Given the description of an element on the screen output the (x, y) to click on. 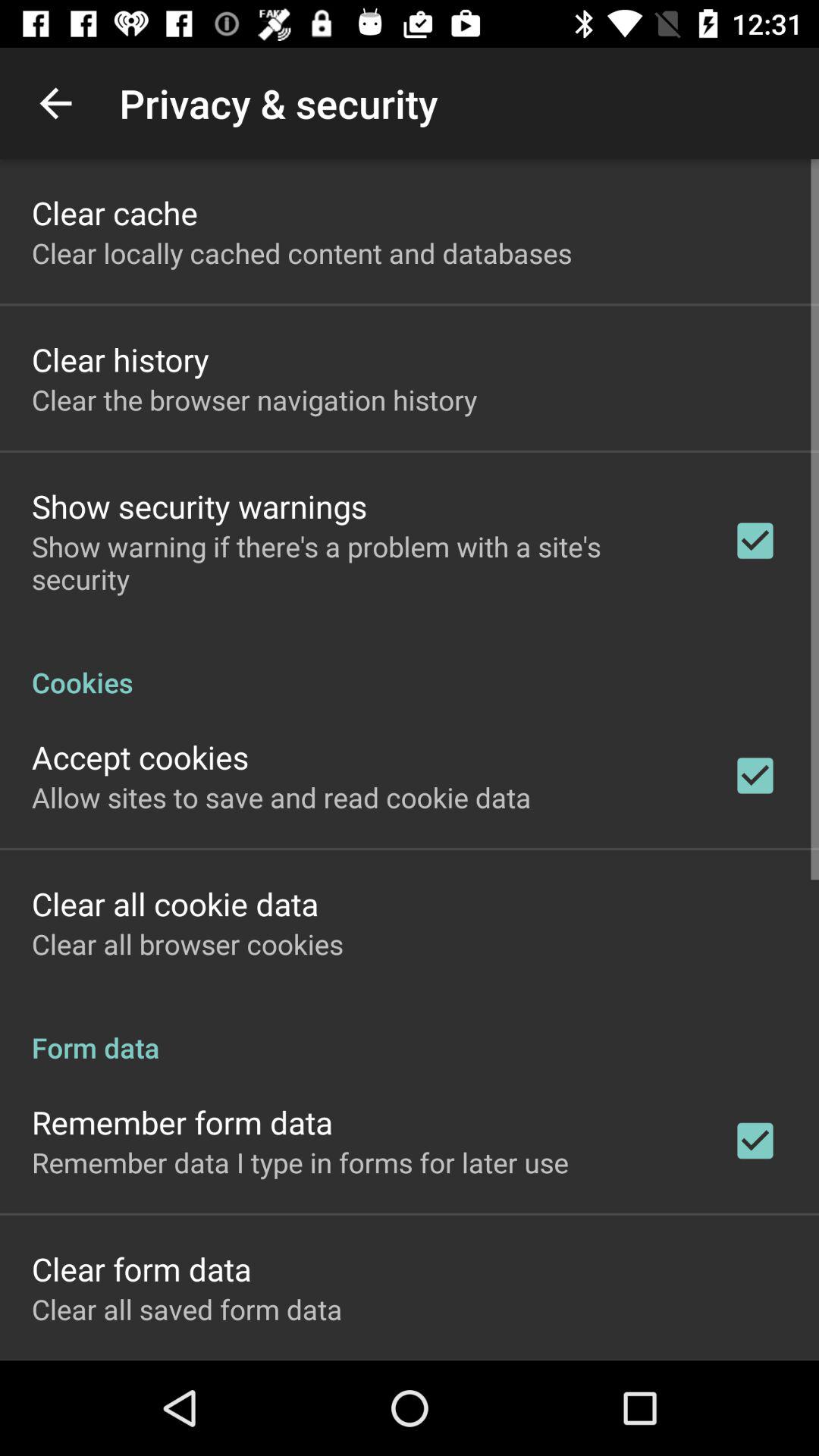
tap the app below the cookies (140, 756)
